Given the description of an element on the screen output the (x, y) to click on. 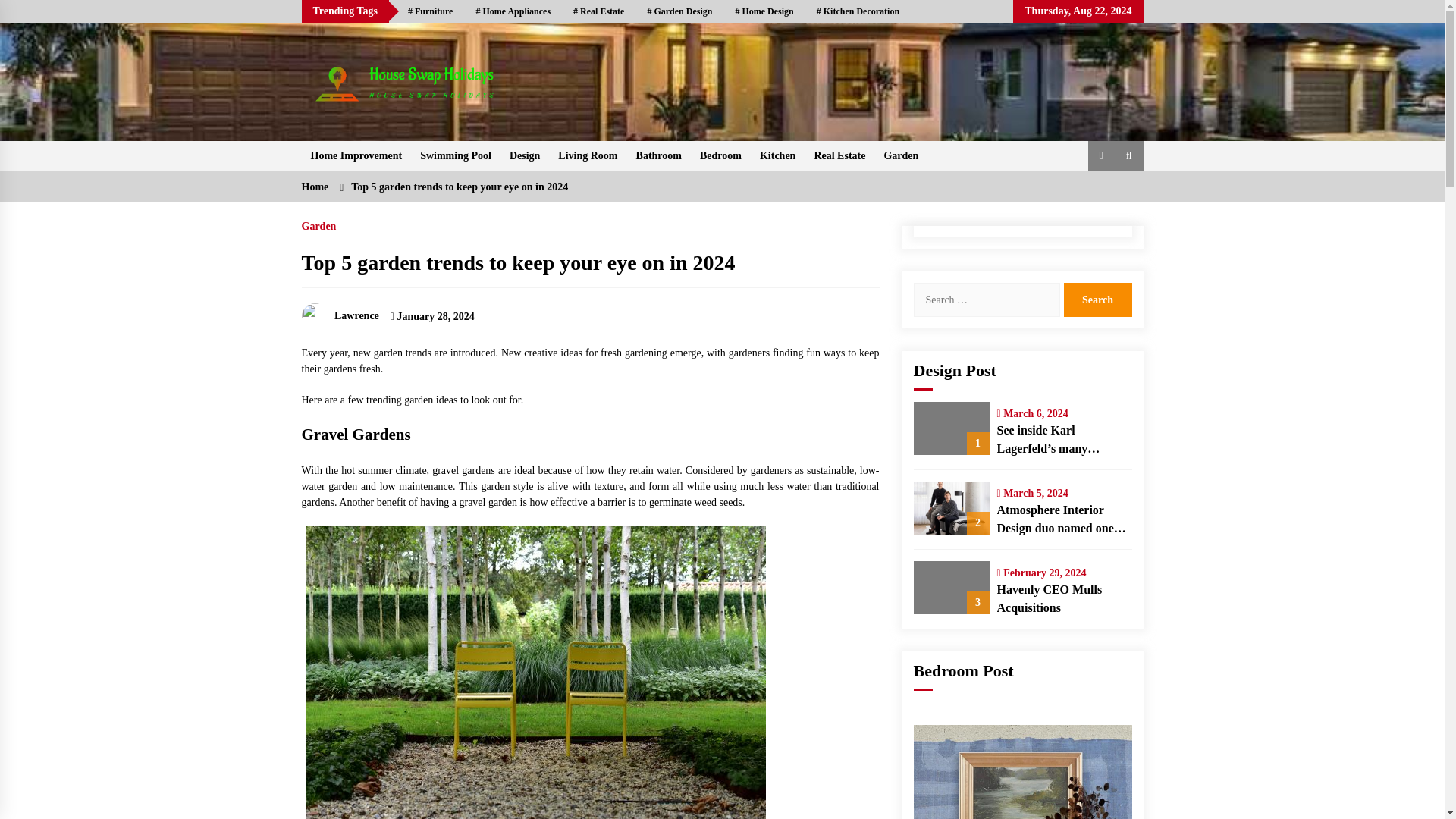
Top 5 garden trends to keep your eye on in 2024 (518, 262)
Kitchen (778, 155)
Swimming Pool (455, 155)
Home Improvement (356, 155)
Design (524, 155)
Home Design (764, 11)
Lawrence (339, 315)
Kitchen Decoration (858, 11)
Real Estate (598, 11)
Search (1096, 299)
